Given the description of an element on the screen output the (x, y) to click on. 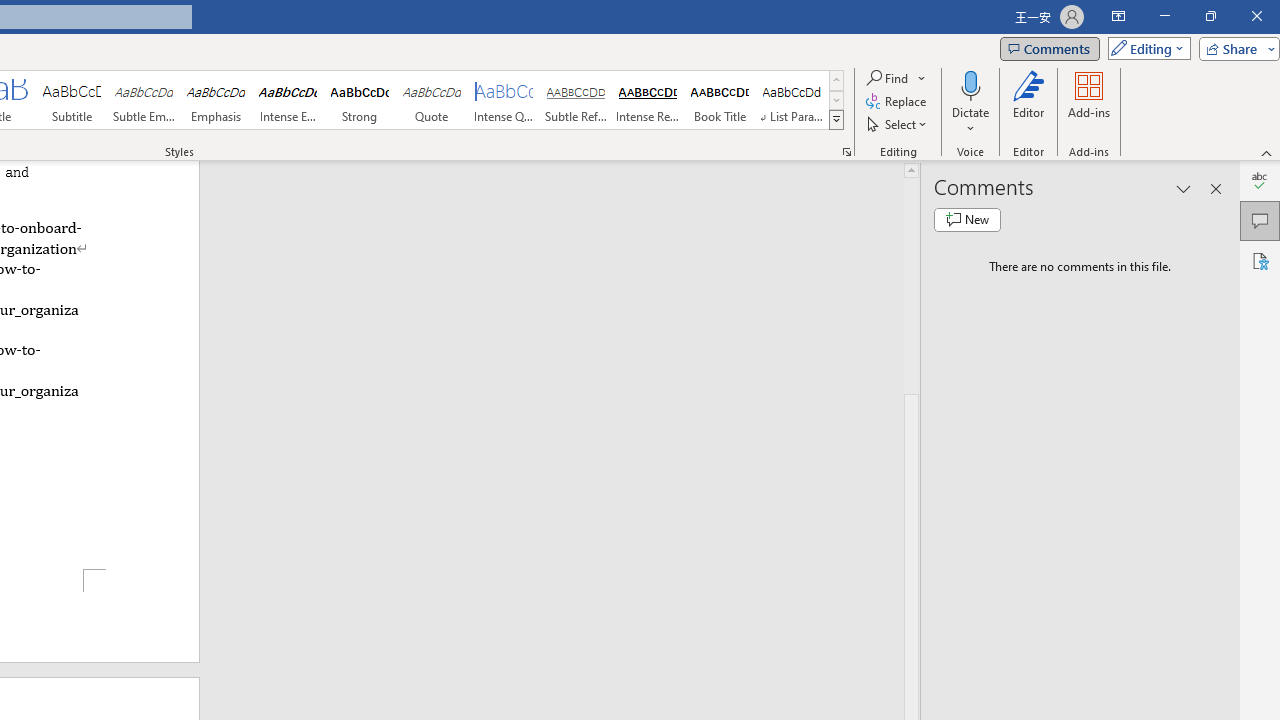
Quote (431, 100)
Accessibility (1260, 260)
Emphasis (216, 100)
Intense Emphasis (287, 100)
